Given the description of an element on the screen output the (x, y) to click on. 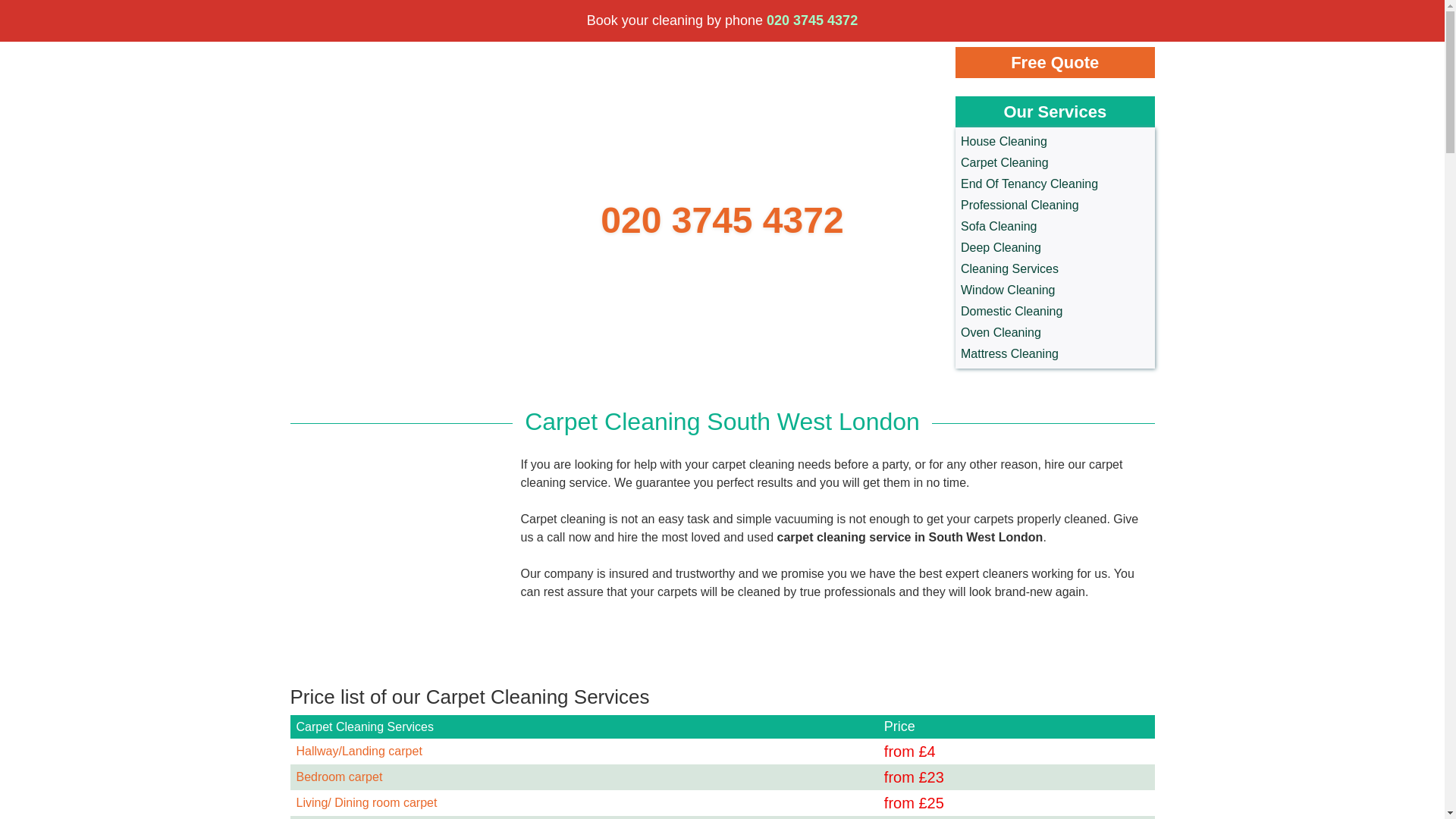
Contact Us (524, 15)
About Us (384, 15)
Oven Cleaning (1055, 332)
Domestic Cleaning (1055, 311)
Prices (451, 15)
Deep Cleaning (1055, 247)
Book a Cleaner (623, 15)
Blog (704, 15)
Main Cleaners London (340, 215)
Sofa Cleaning (1055, 226)
